Given the description of an element on the screen output the (x, y) to click on. 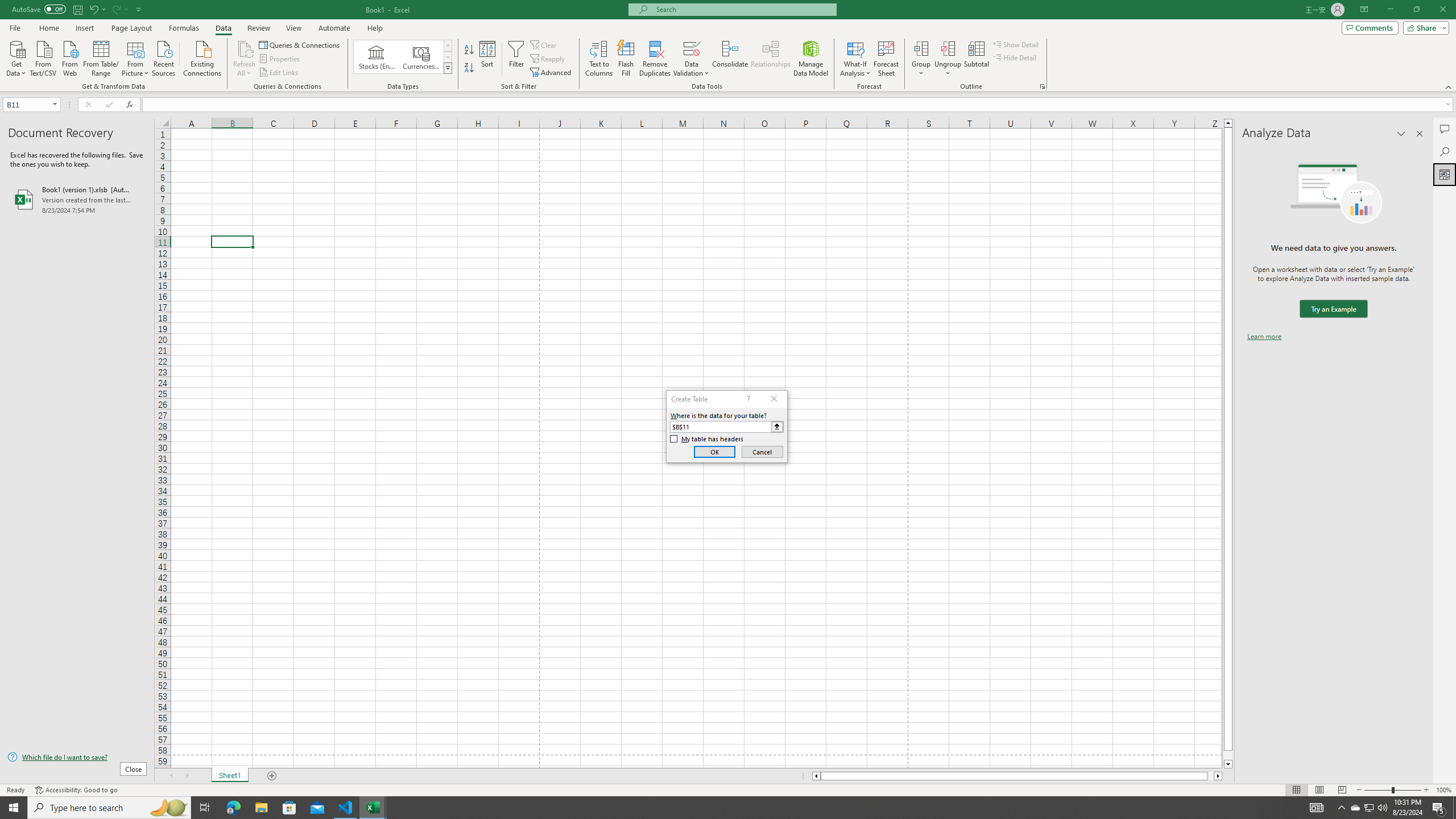
Sort... (487, 58)
Row up (448, 45)
System (6, 6)
Redo (119, 9)
Flash Fill (625, 58)
Redo (115, 9)
Share (1423, 27)
From Table/Range (100, 57)
Page down (1228, 755)
Group and Outline Settings (1042, 85)
From Text/CSV (43, 57)
More Options (947, 68)
Column right (1218, 775)
Subtotal (976, 58)
Which file do I want to save? (77, 757)
